Given the description of an element on the screen output the (x, y) to click on. 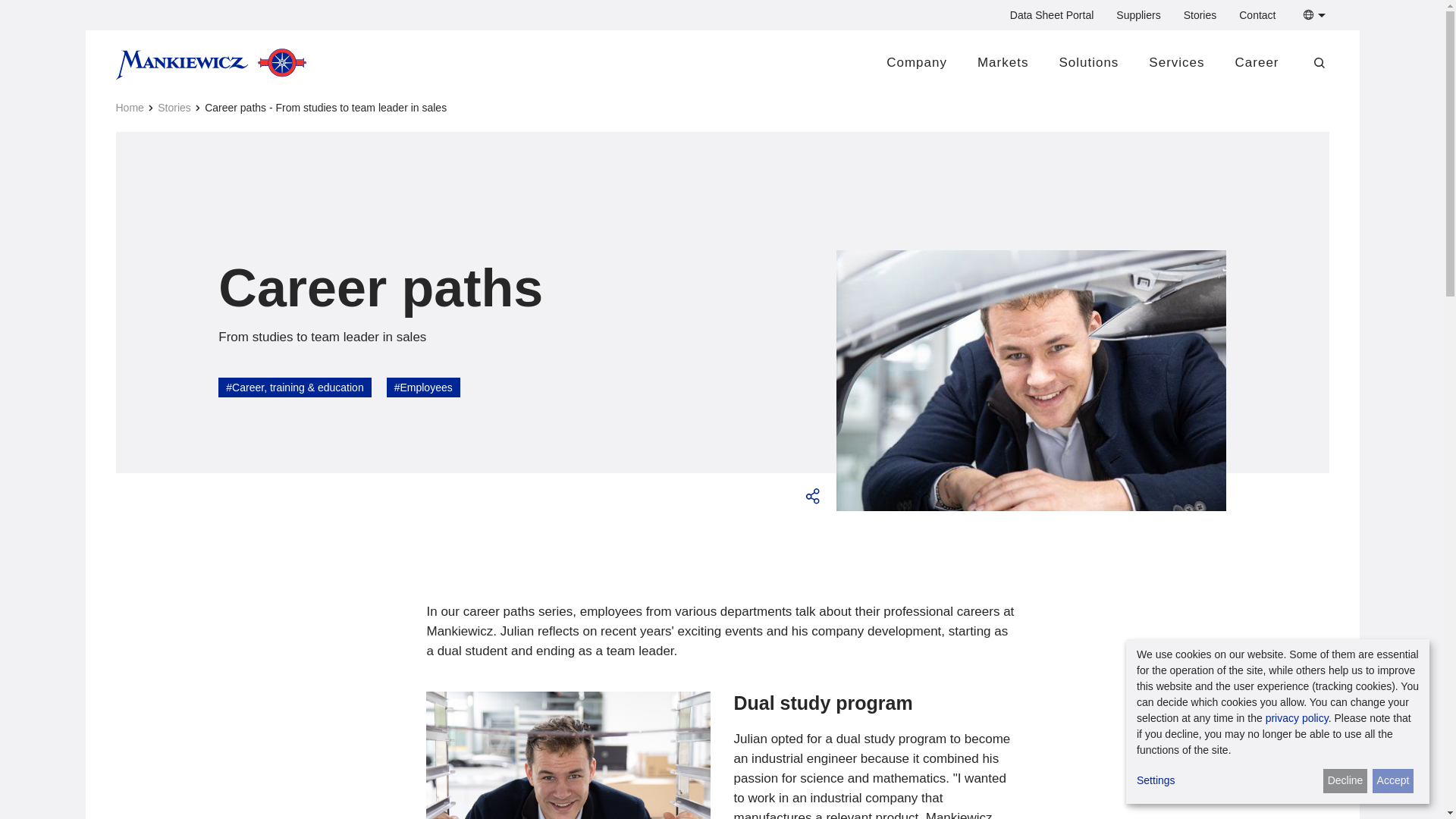
Mankiewicz (210, 63)
Search (1038, 103)
Change language (1311, 15)
Share via email (812, 495)
Toggle search form (1319, 62)
Search (1038, 103)
Markets (1001, 62)
Company (916, 62)
Toggle search form (1319, 62)
